Given the description of an element on the screen output the (x, y) to click on. 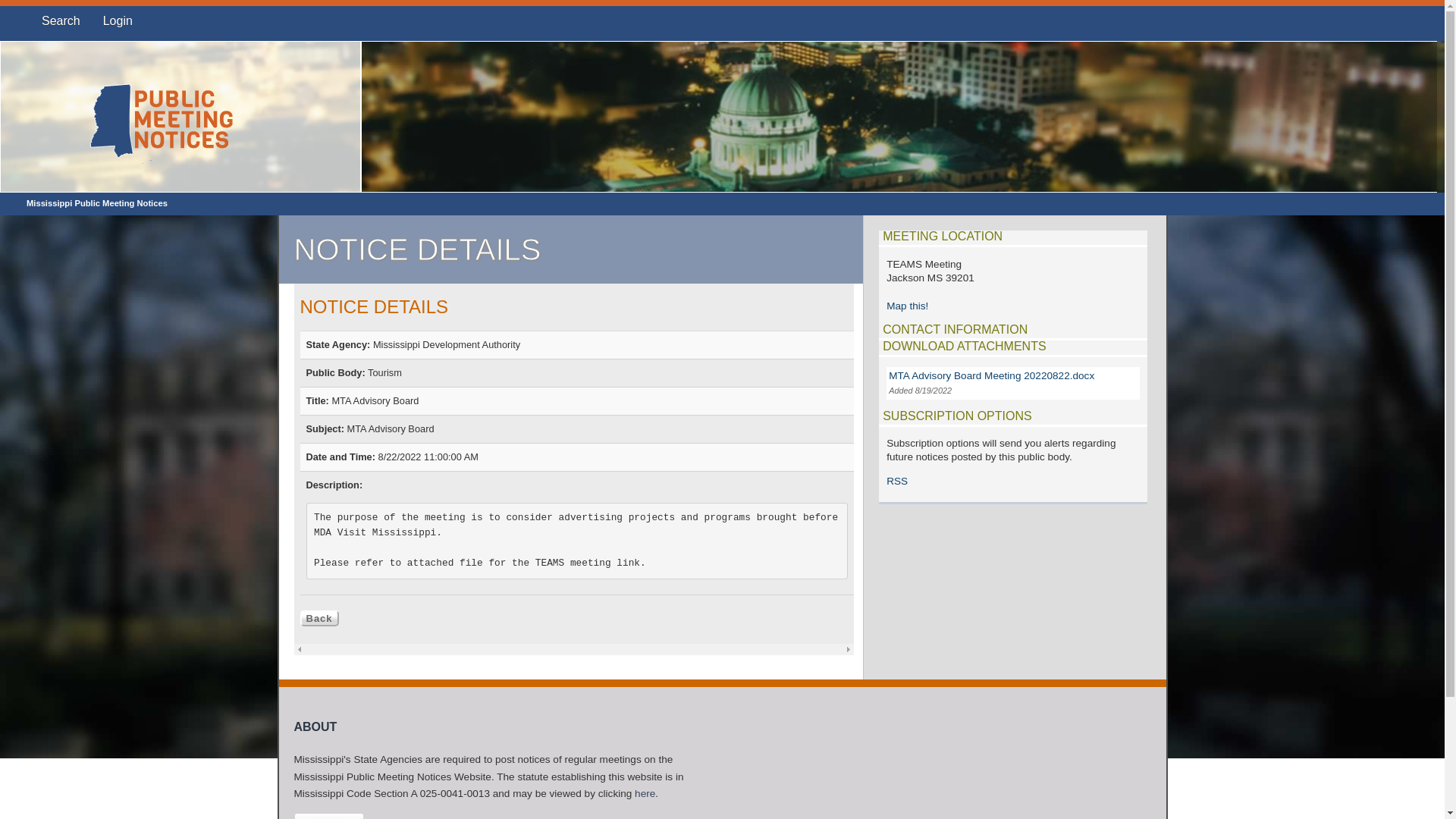
Login (117, 20)
Back (319, 618)
Mississippi Public Meeting Notices (96, 203)
Search (60, 20)
MTA Advisory Board Meeting 20220822.docx (991, 375)
Legislation (329, 816)
here (644, 793)
Map this! (907, 306)
RSS (896, 480)
